Given the description of an element on the screen output the (x, y) to click on. 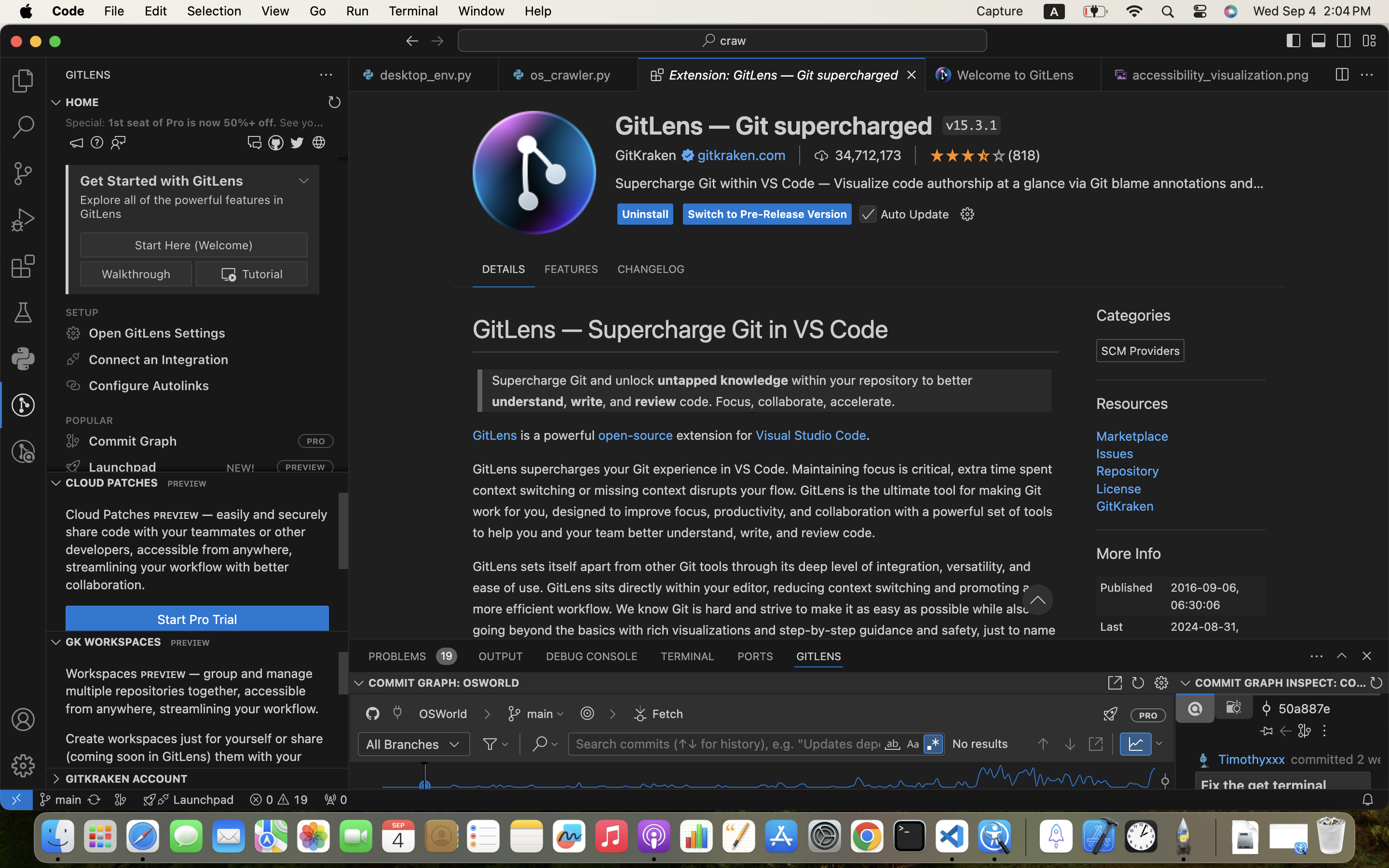
Powerful Features Element type: AXStaticText (443, 254)
No results    Element type: AXGroup (1029, 744)
Want more control? Element type: AXStaticText (429, 459)
2024-08-31, 17:11:19 Element type: AXStaticText (1205, 628)
All features are free to use on all repos, Element type: AXStaticText (503, 281)
